Given the description of an element on the screen output the (x, y) to click on. 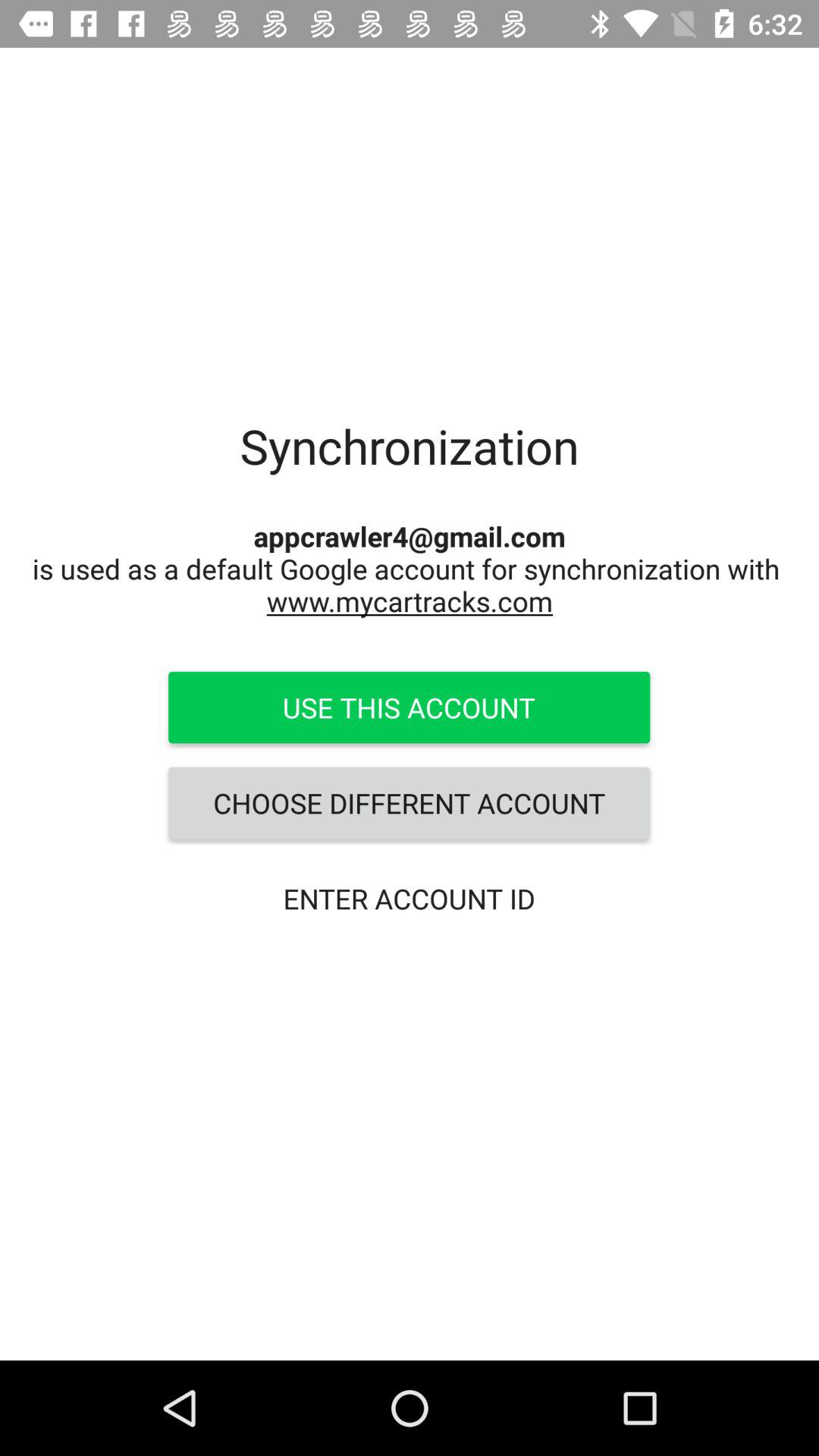
open the icon below the appcrawler4 gmail com icon (409, 707)
